Given the description of an element on the screen output the (x, y) to click on. 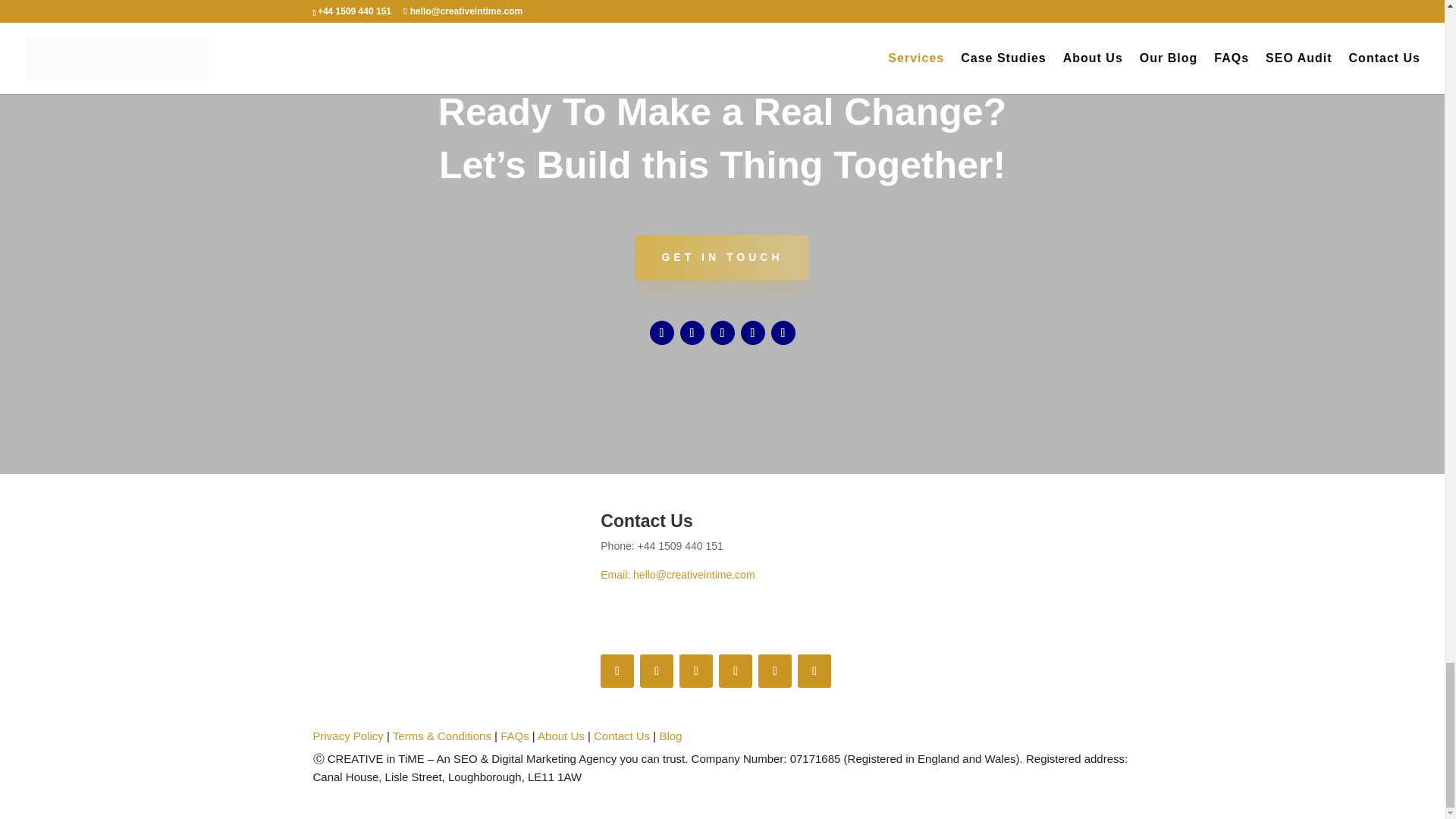
FAQs (514, 735)
Follow on Instagram (735, 670)
Follow on Instagram (751, 332)
Follow on FlipBoard (814, 670)
Contact Us (621, 735)
Follow on LinkedIn (721, 332)
Blog (670, 735)
Follow on X (691, 332)
GET IN TOUCH (721, 257)
Follow on Facebook (616, 670)
